Given the description of an element on the screen output the (x, y) to click on. 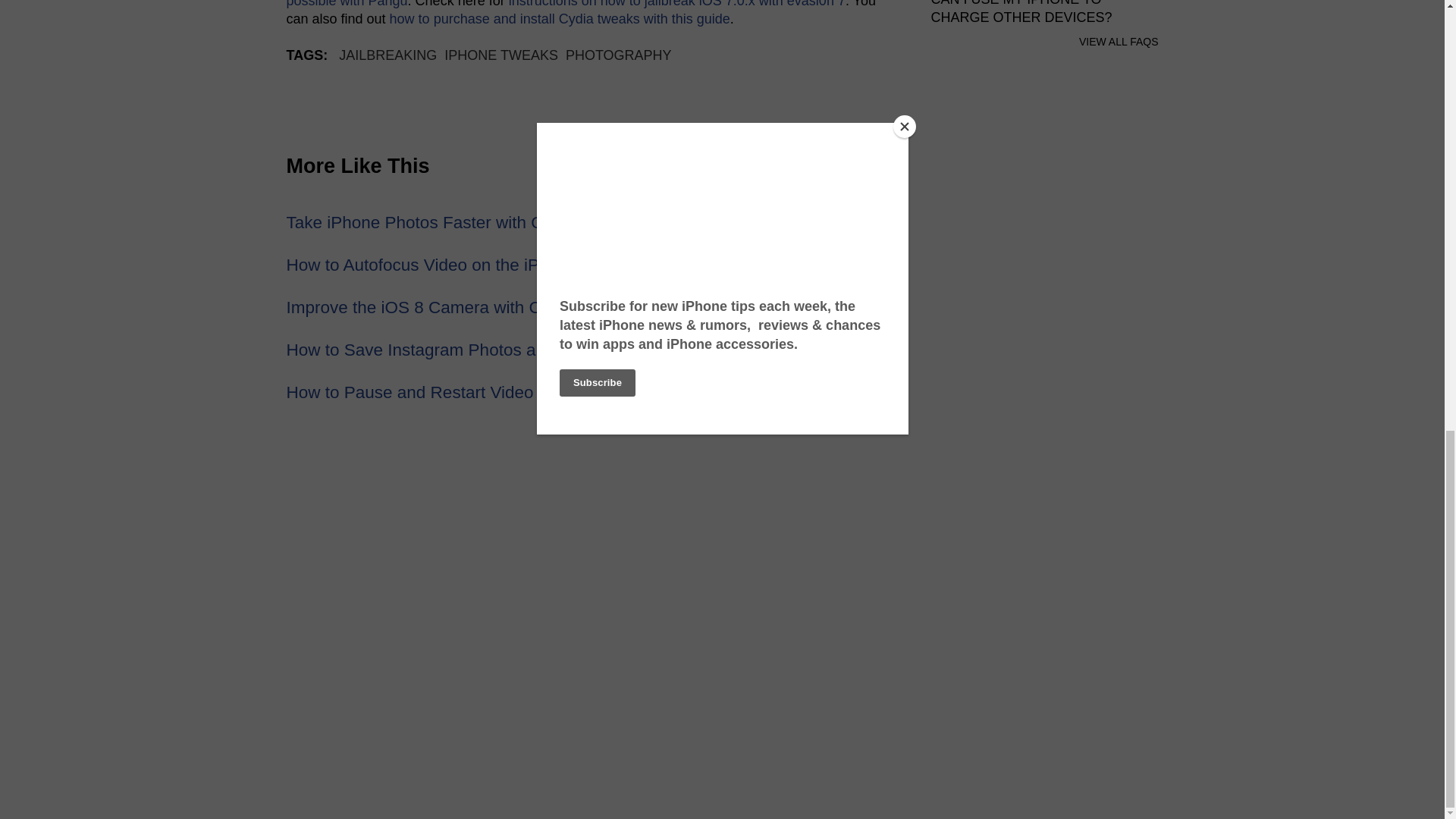
Take iPhone Photos Faster with QuickShoot Pro (468, 221)
instructions on how to jailbreak iOS 7.0.x with evasi0n 7 (676, 4)
How to Save Instagram Photos and Videos on iPhone (489, 349)
how to purchase and install Cydia tweaks with this guide (560, 18)
PHOTOGRAPHY (618, 55)
IPHONE TWEAKS (500, 55)
How to Pause and Restart Video Recording in iOS (476, 392)
CAN I USE MY IPHONE TO CHARGE OTHER DEVICES? (1021, 12)
Improve the iOS 8 Camera with CameraTweak 3 (469, 307)
JAILBREAKING (387, 55)
3rd party ad content (1044, 568)
VIEW ALL FAQS (1118, 41)
iOS 7.1.x is now possible with Pangu (576, 4)
